Given the description of an element on the screen output the (x, y) to click on. 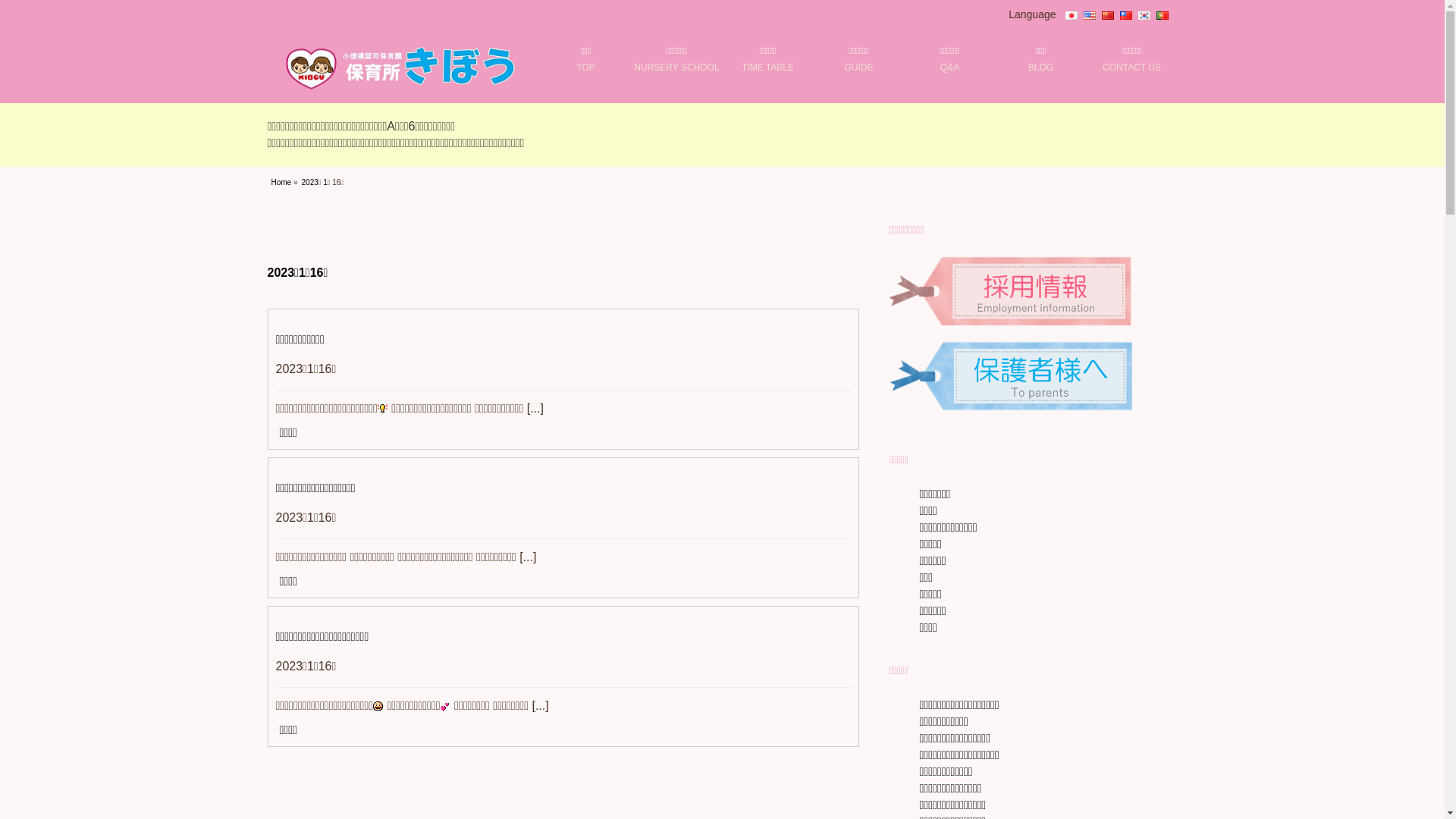
English Element type: hover (1088, 14)
Home Element type: text (281, 182)
1 Element type: text (325, 182)
Portugues Element type: hover (1161, 14)
2023 Element type: text (309, 182)
